Given the description of an element on the screen output the (x, y) to click on. 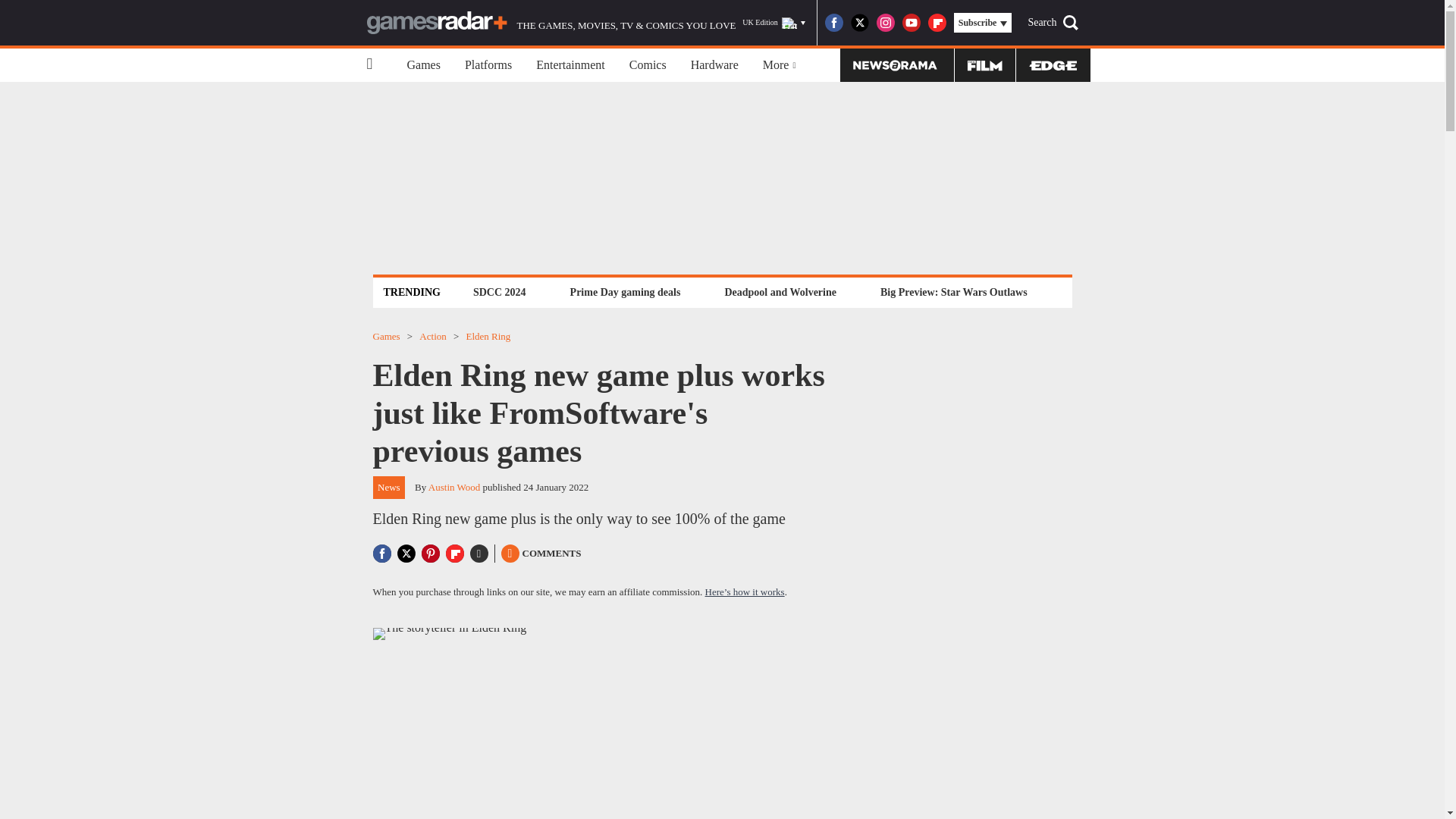
Hardware (714, 64)
Entertainment (570, 64)
Prime Day gaming deals (624, 292)
Deadpool and Wolverine (780, 292)
Big Preview: Star Wars Outlaws (953, 292)
Comics (647, 64)
UK Edition (773, 22)
Platforms (488, 64)
Games (422, 64)
SDCC 2024 (499, 292)
